Given the description of an element on the screen output the (x, y) to click on. 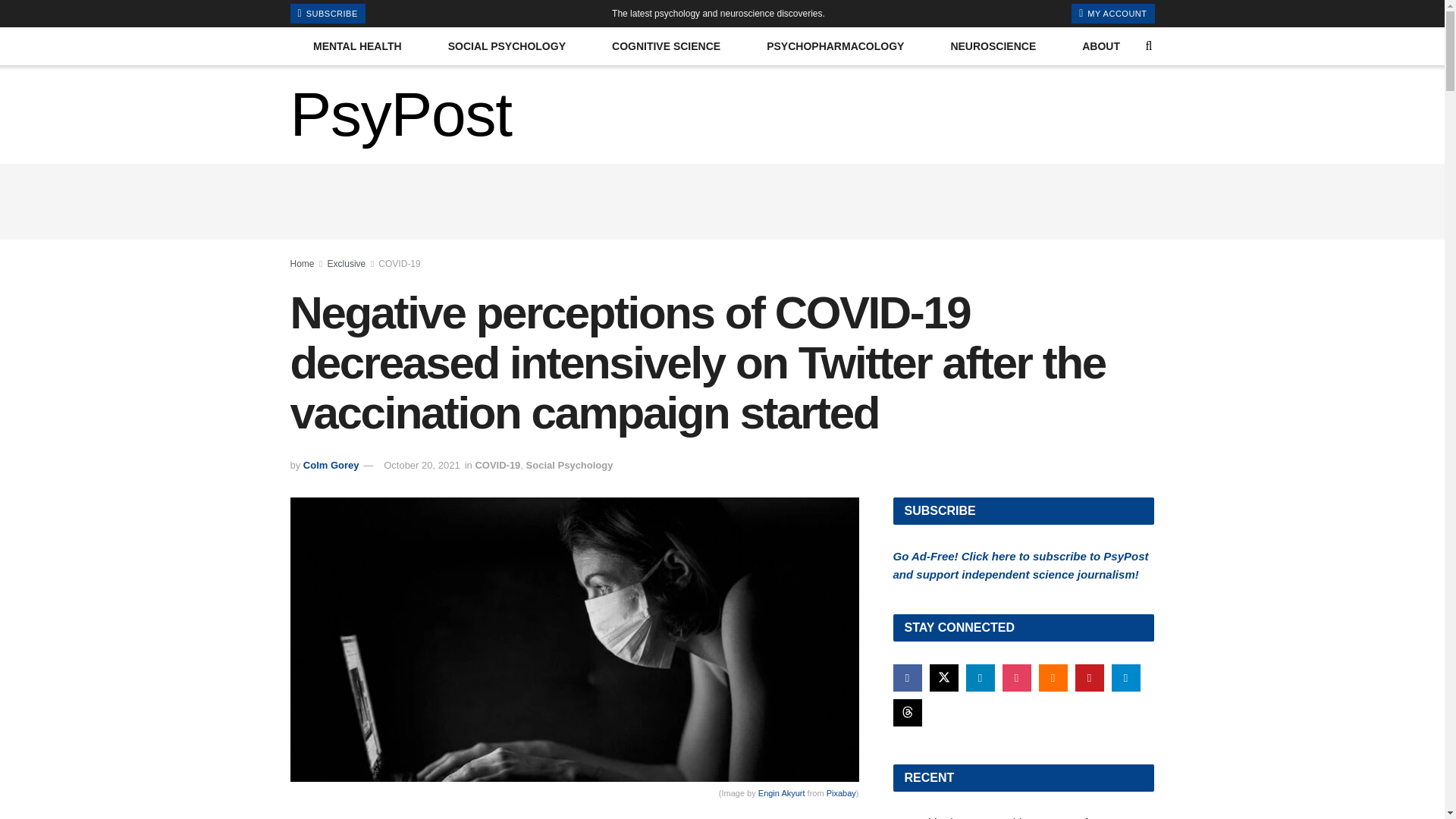
COGNITIVE SCIENCE (666, 46)
PSYCHOPHARMACOLOGY (835, 46)
NEUROSCIENCE (993, 46)
October 20, 2021 (422, 464)
Exclusive (346, 263)
Engin Akyurt (781, 792)
Pixabay (841, 792)
SOCIAL PSYCHOLOGY (506, 46)
Social Psychology (568, 464)
Home (301, 263)
